Given the description of an element on the screen output the (x, y) to click on. 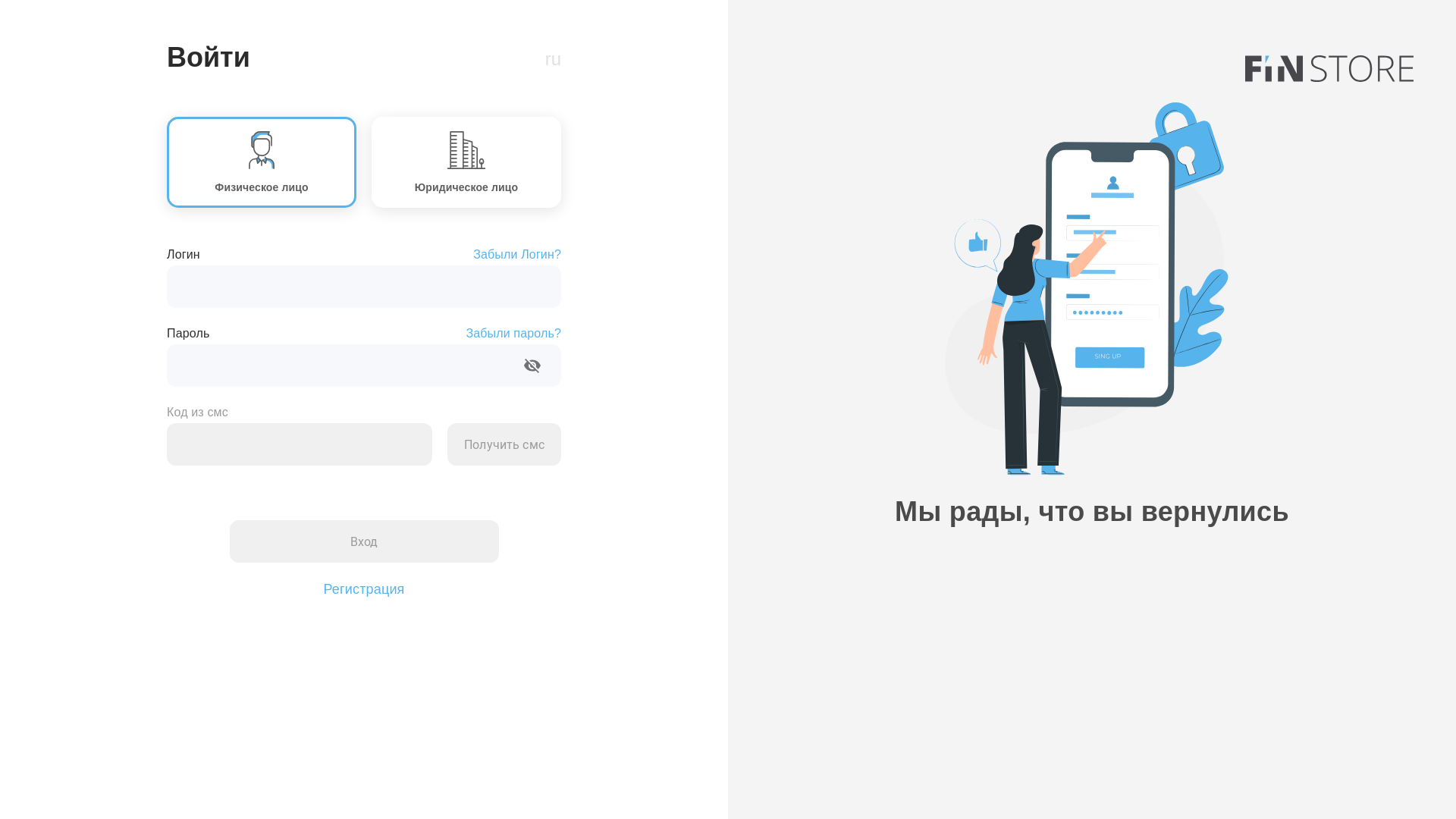
ru Element type: text (553, 58)
